Given the description of an element on the screen output the (x, y) to click on. 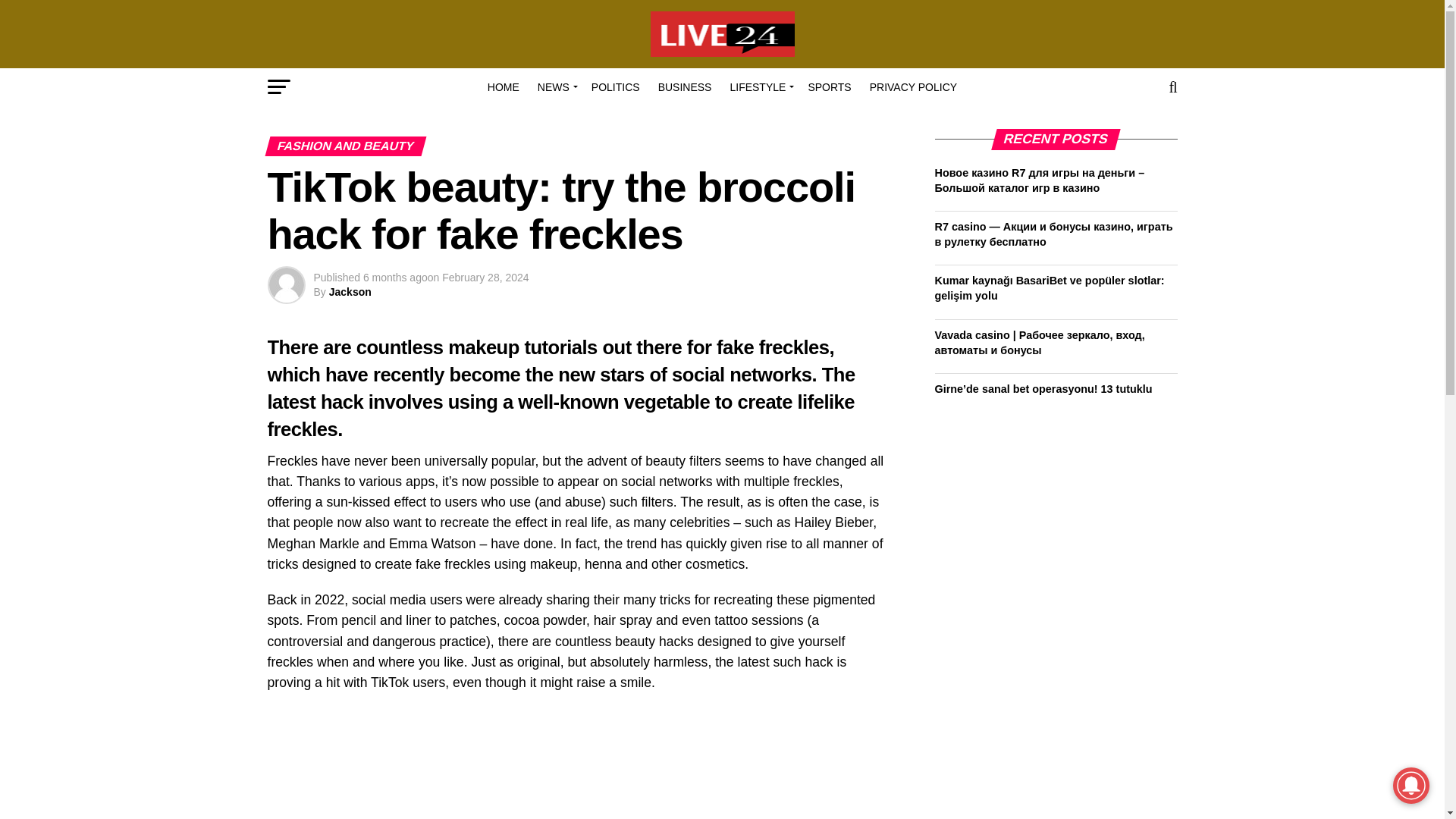
LIFESTYLE (758, 86)
Advertisement (577, 763)
BUSINESS (684, 86)
SPORTS (828, 86)
Advertisement (1047, 521)
POLITICS (615, 86)
Jackson (350, 291)
HOME (503, 86)
PRIVACY POLICY (913, 86)
NEWS (555, 86)
